Given the description of an element on the screen output the (x, y) to click on. 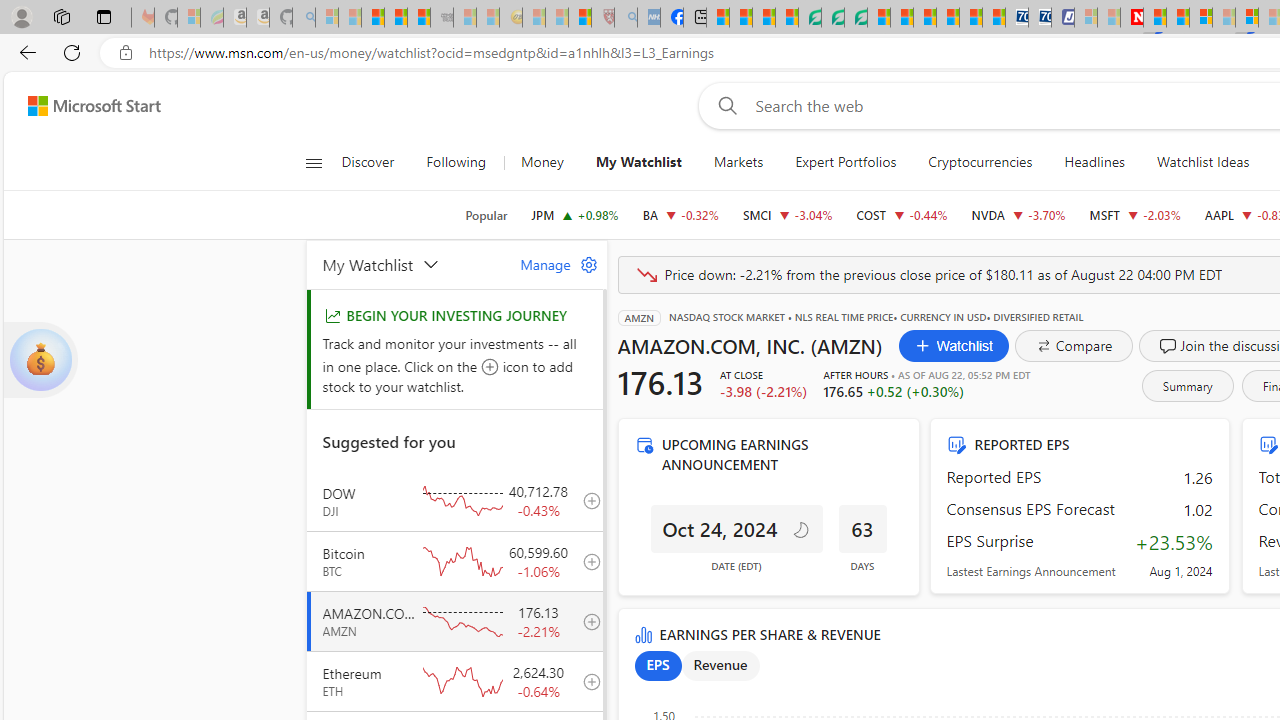
Headlines (1094, 162)
14 Common Myths Debunked By Scientific Facts (1178, 17)
Cryptocurrencies (980, 162)
LendingTree - Compare Lenders (809, 17)
Skip to footer (82, 105)
Watchlist (953, 345)
Headlines (1094, 162)
